Given the description of an element on the screen output the (x, y) to click on. 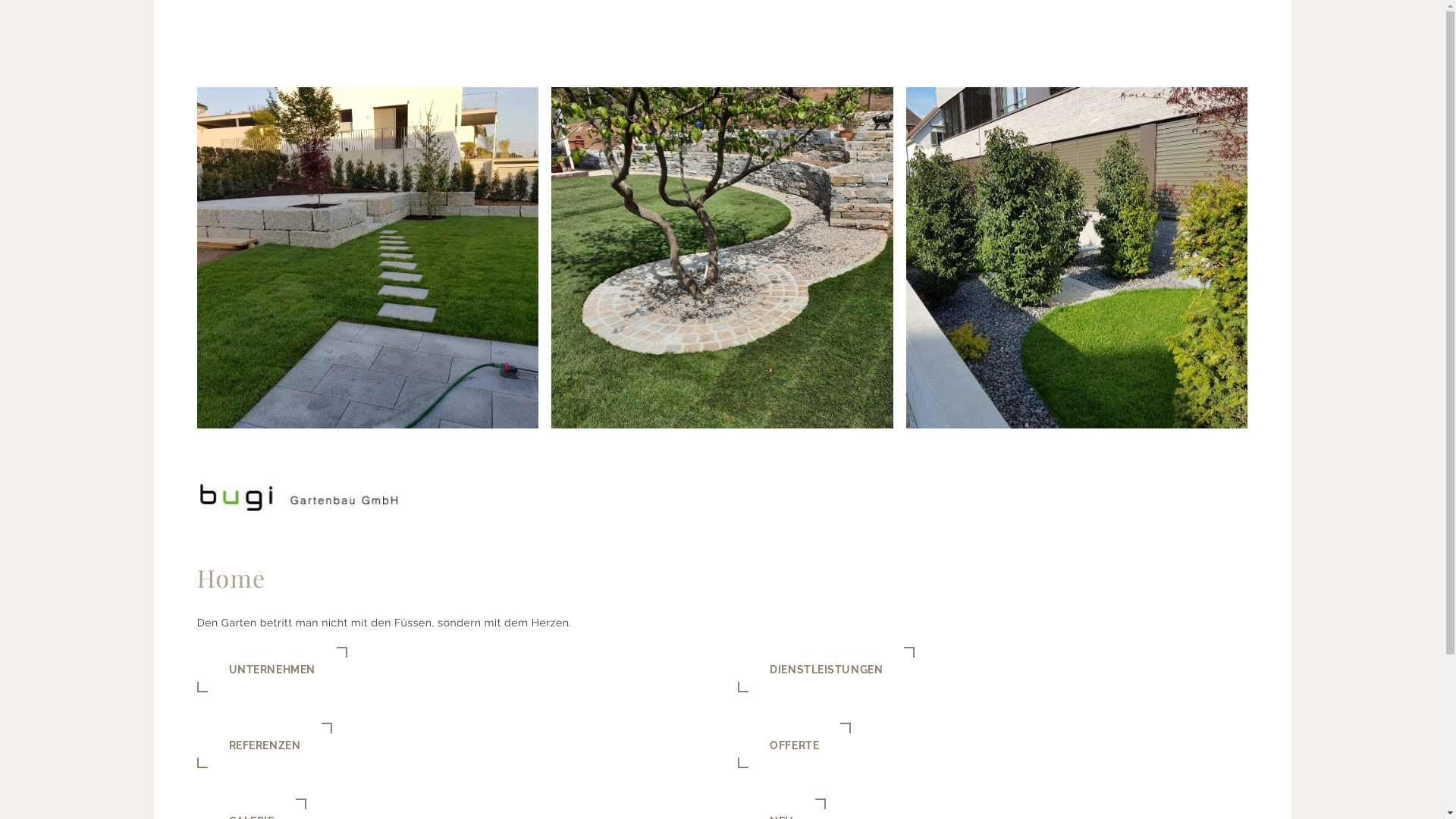
REFERENZEN Element type: text (264, 745)
OFFERTE Element type: text (793, 745)
DIENSTLEISTUNGEN Element type: text (825, 669)
UNTERNEHMEN Element type: text (272, 669)
